Given the description of an element on the screen output the (x, y) to click on. 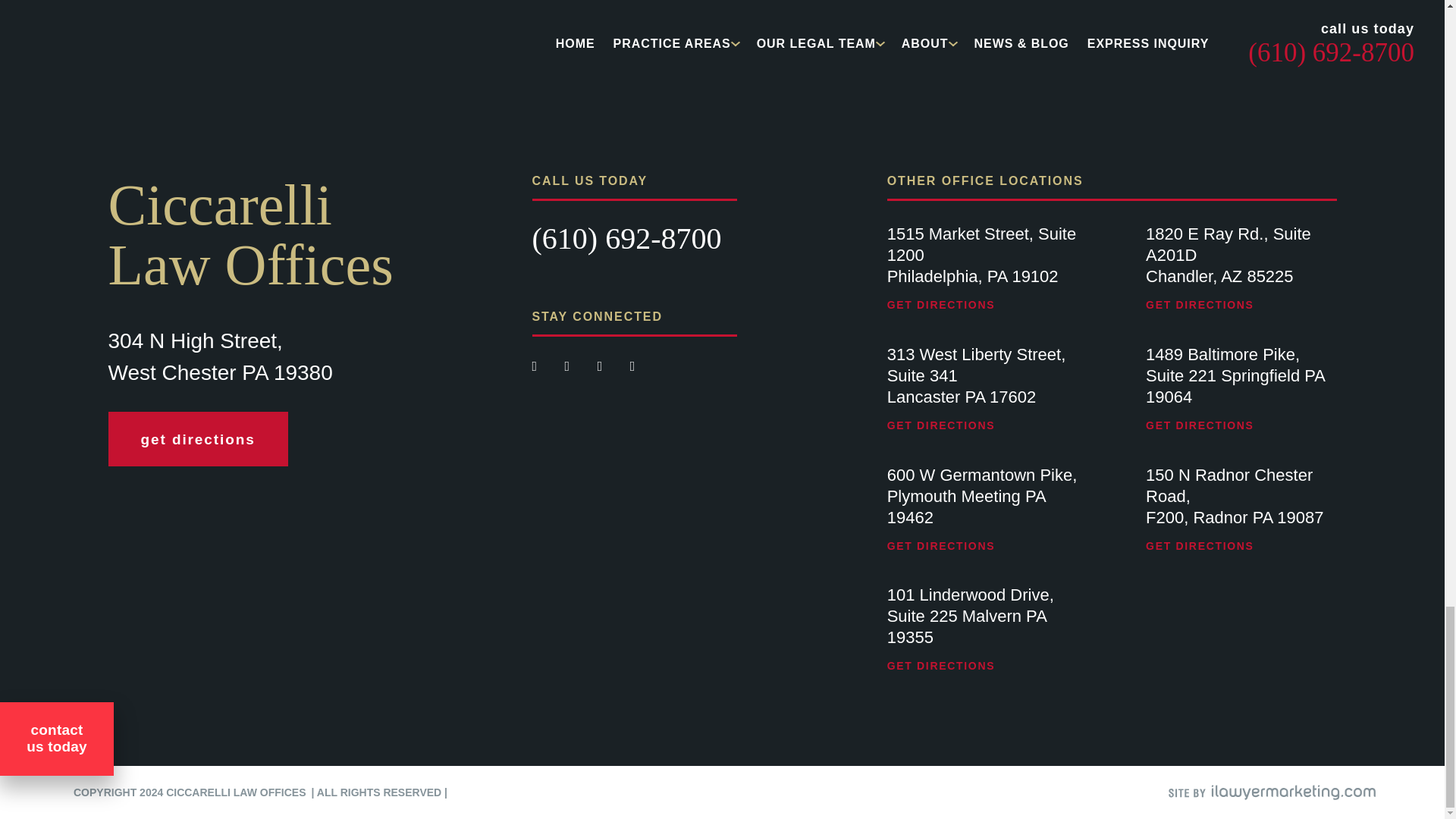
Call Toll Free (627, 238)
